Given the description of an element on the screen output the (x, y) to click on. 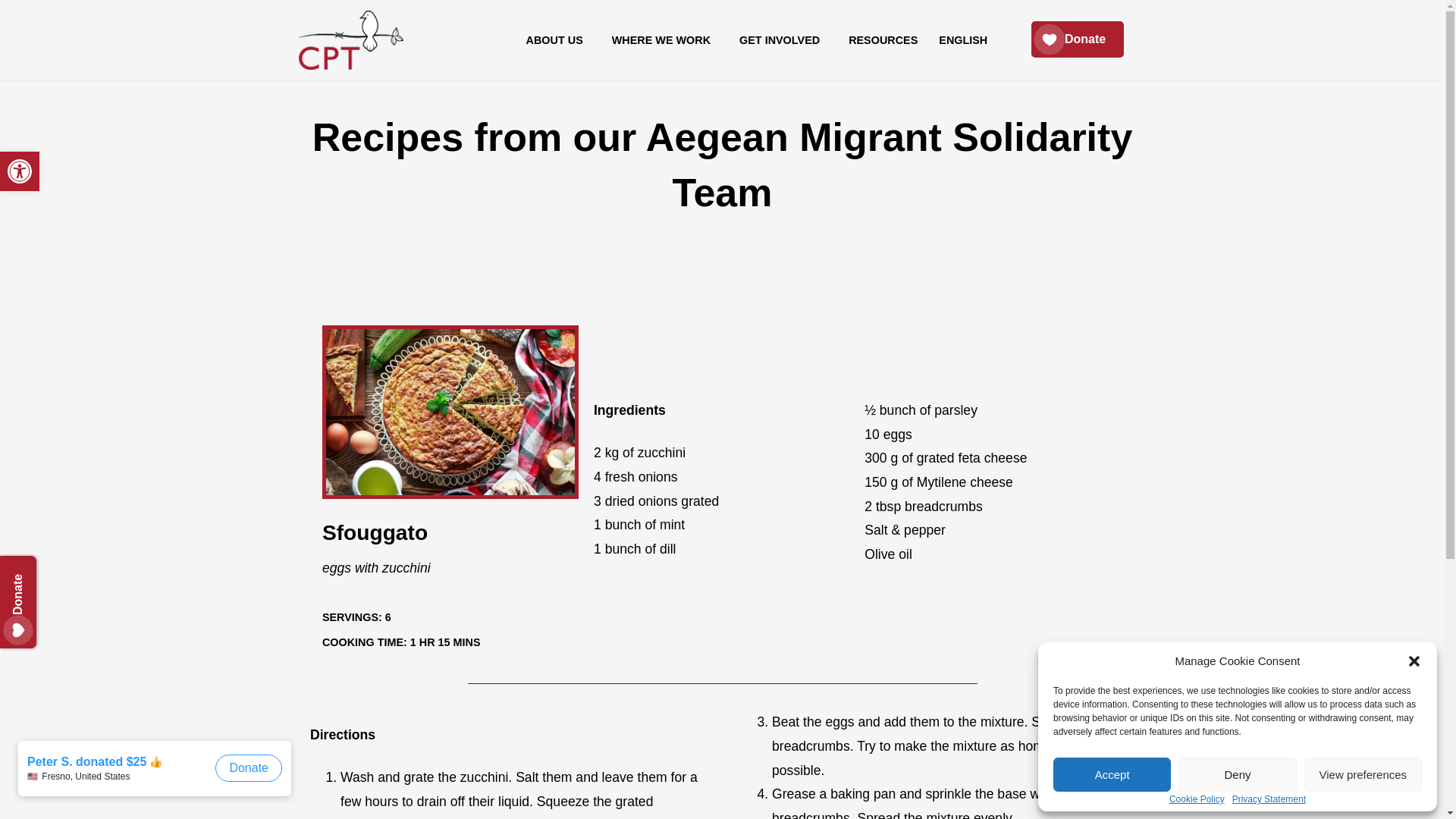
Accessibility Tools (19, 170)
Deny (19, 170)
Persistent Donate Button (1236, 774)
Donate Button (48, 573)
View preferences (1076, 40)
Accessibility Tools (1363, 774)
Accept (19, 170)
Privacy Statement (1111, 774)
Donation Activity Popup (962, 39)
Cookie Policy (158, 776)
ABOUT US (1196, 799)
